Given the description of an element on the screen output the (x, y) to click on. 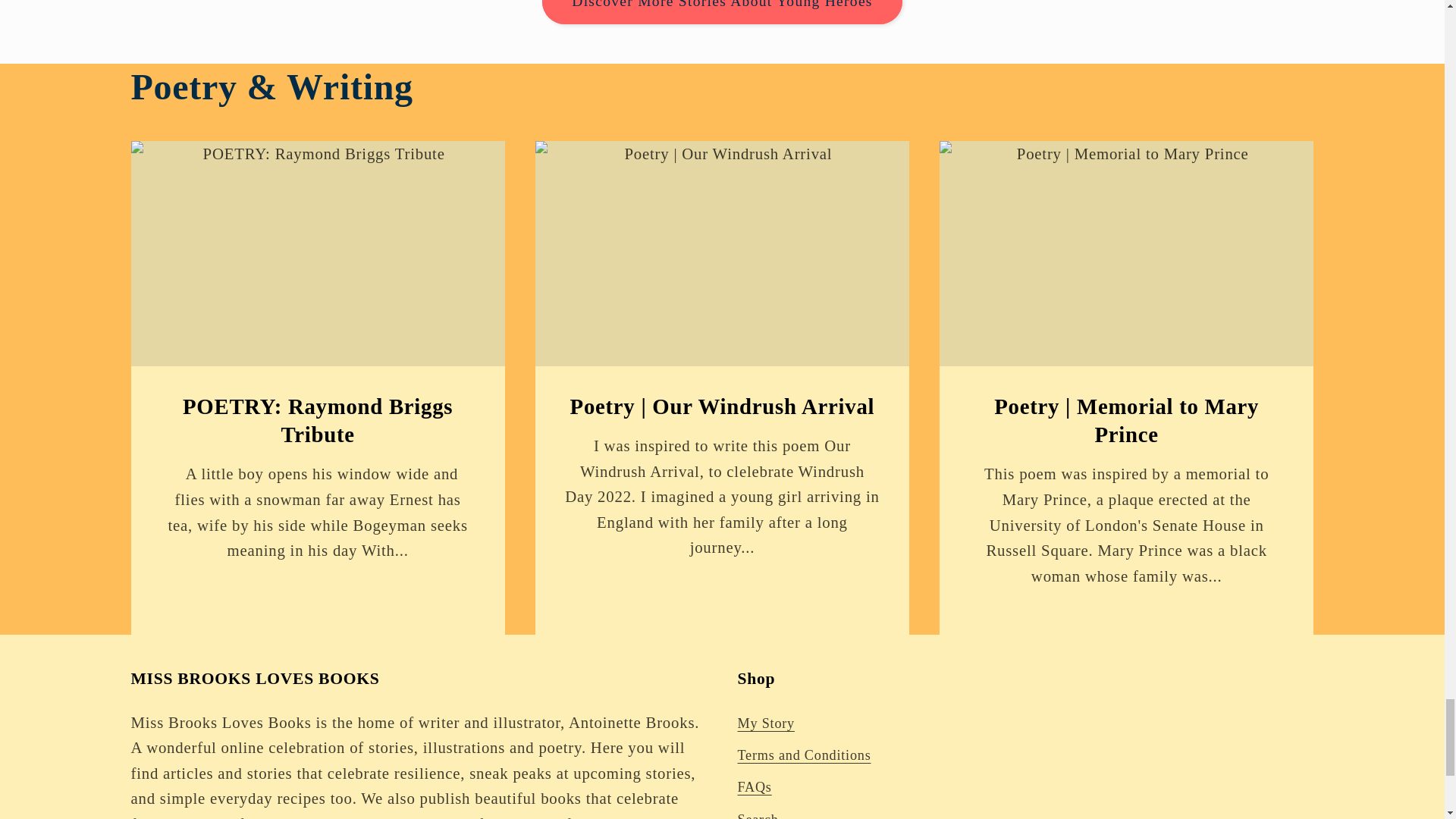
Discover More Stories About Young Heroes (721, 12)
